Given the description of an element on the screen output the (x, y) to click on. 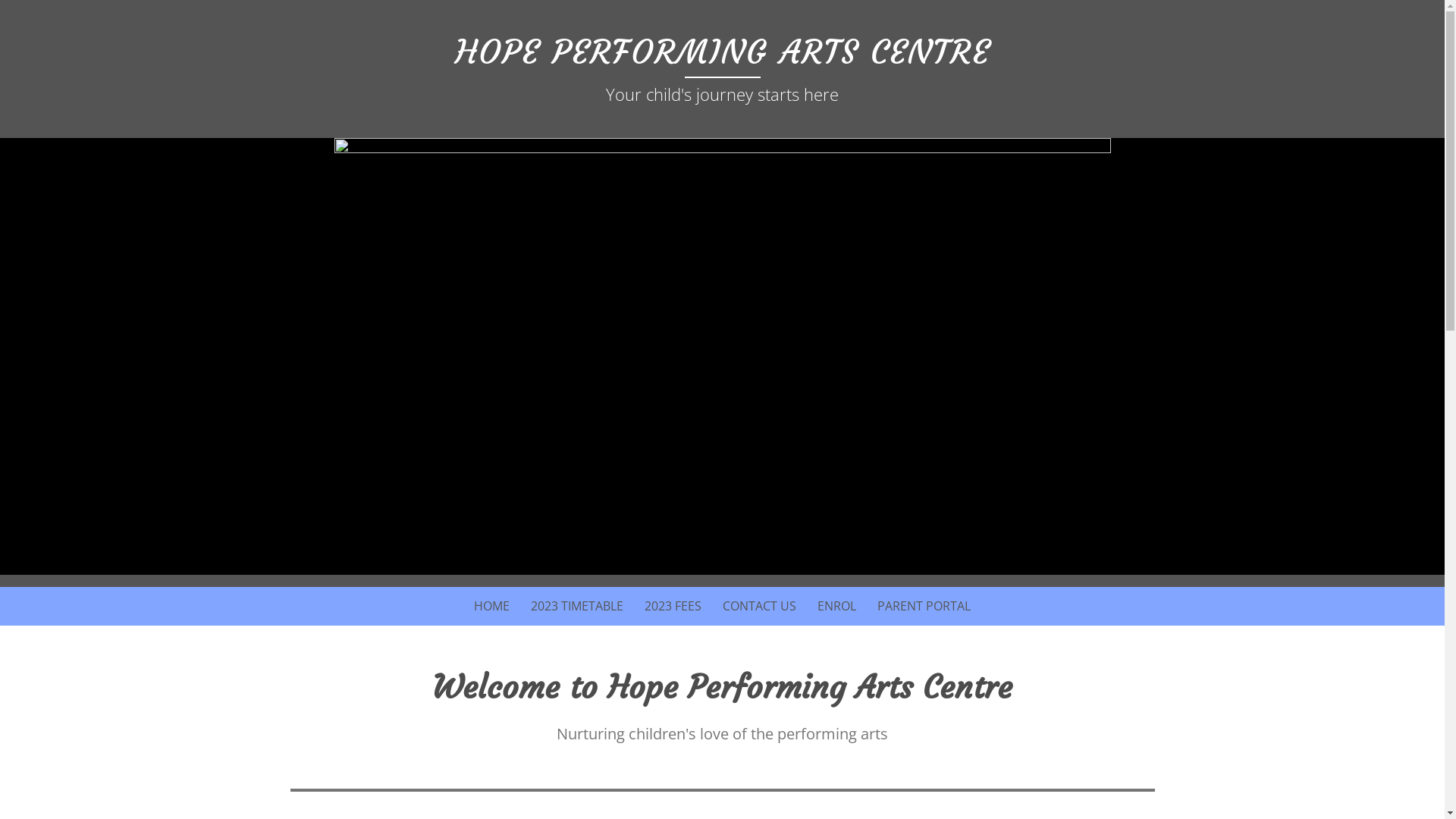
Skip to content Element type: text (274, 586)
PARENT PORTAL Element type: text (923, 605)
2023 TIMETABLE Element type: text (576, 605)
HOME Element type: text (491, 605)
CONTACT US Element type: text (759, 605)
ENROL Element type: text (836, 605)
HOPE PERFORMING ARTS CENTRE Element type: text (722, 51)
2023 FEES Element type: text (672, 605)
